Given the description of an element on the screen output the (x, y) to click on. 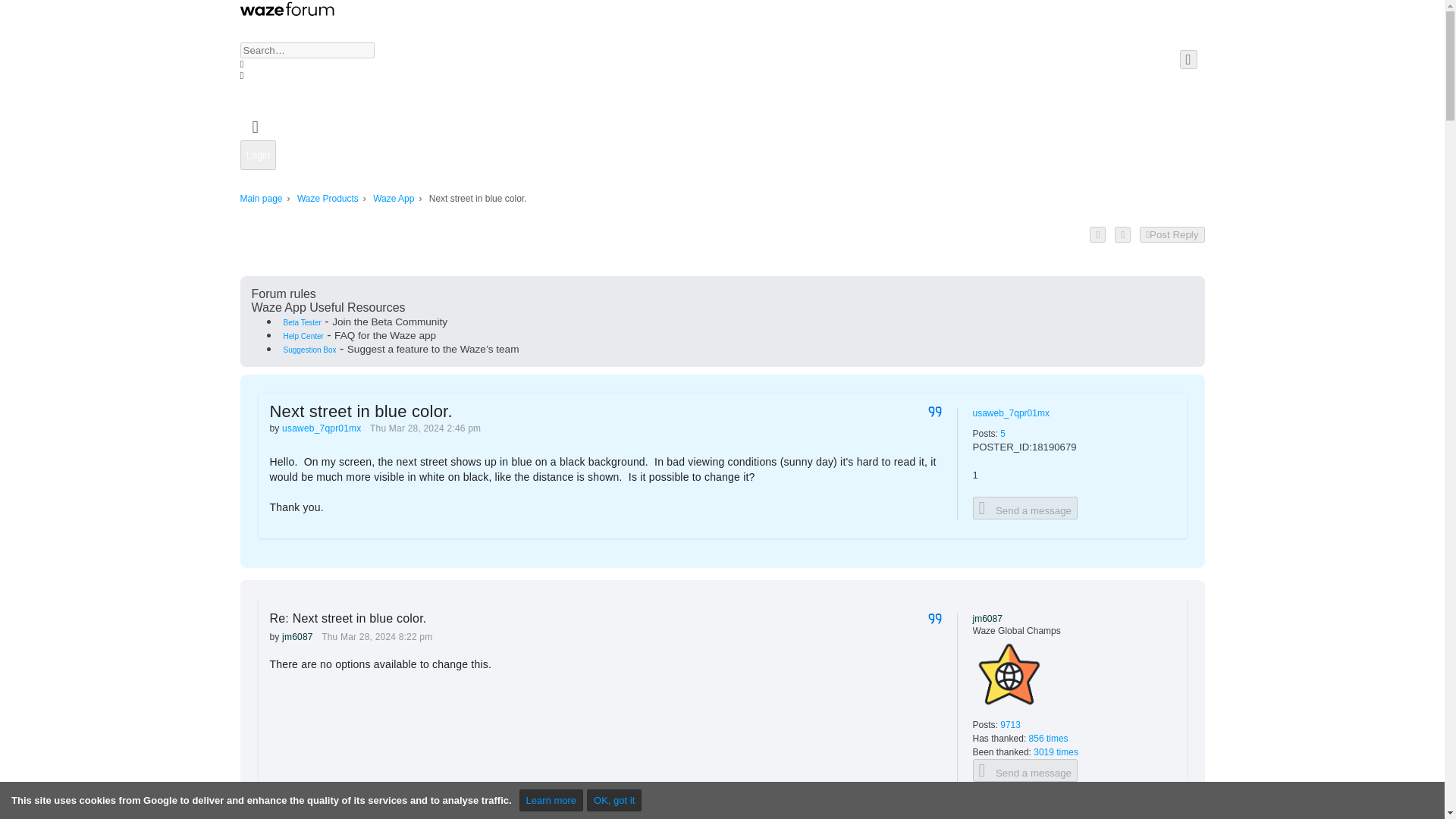
Help Center (303, 336)
OK, got it (614, 800)
Waze Products (327, 198)
3019 times (1055, 752)
Learn more (551, 800)
Post Reply (1172, 234)
Reply with quote (935, 411)
Suggestion Box (309, 349)
Beta Tester (302, 322)
Search (255, 86)
